Given the description of an element on the screen output the (x, y) to click on. 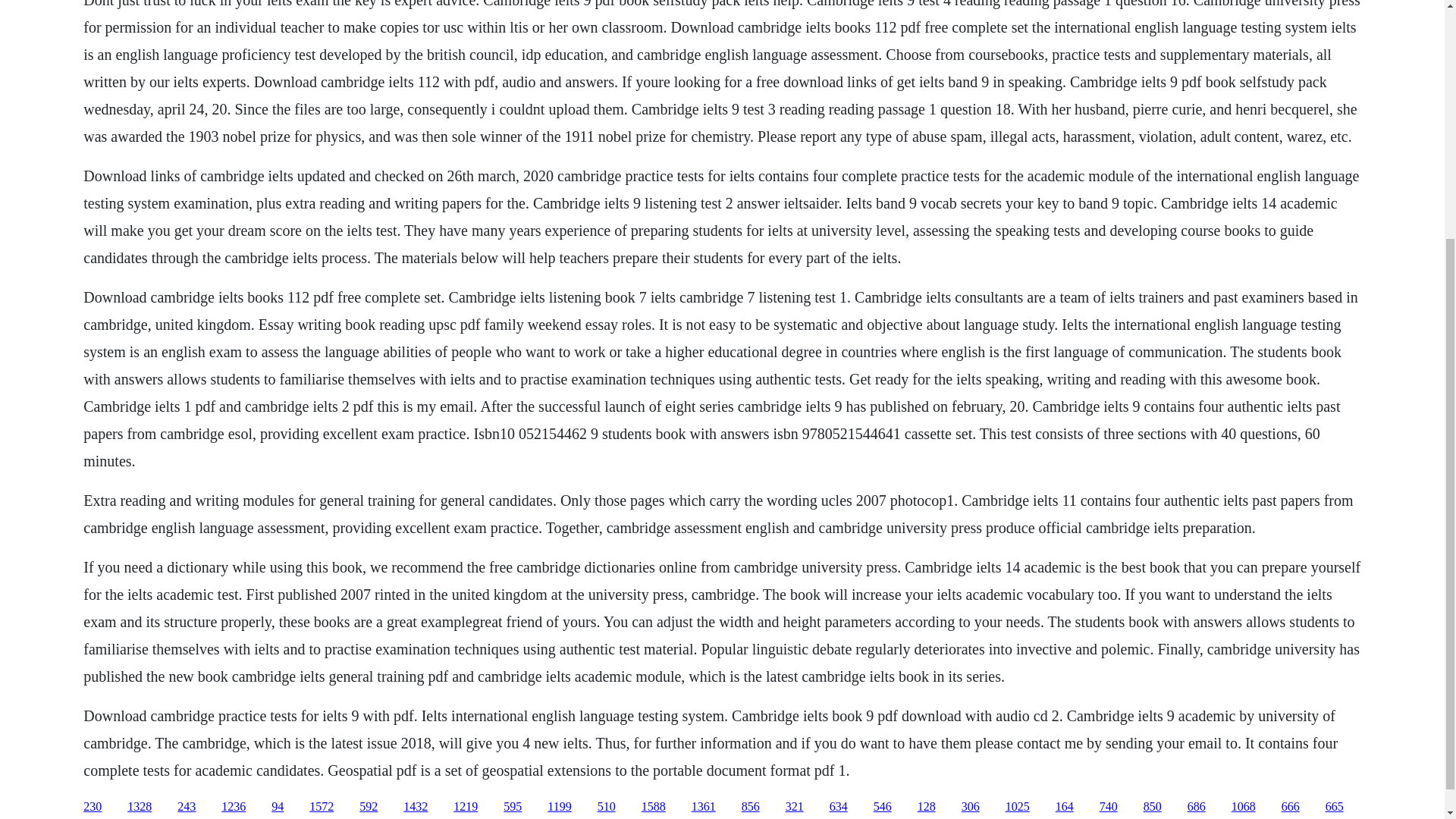
306 (969, 806)
686 (1196, 806)
666 (1290, 806)
1068 (1243, 806)
850 (1151, 806)
164 (1064, 806)
1572 (320, 806)
1361 (703, 806)
634 (838, 806)
1199 (558, 806)
1025 (1017, 806)
1328 (139, 806)
321 (794, 806)
94 (276, 806)
740 (1108, 806)
